Given the description of an element on the screen output the (x, y) to click on. 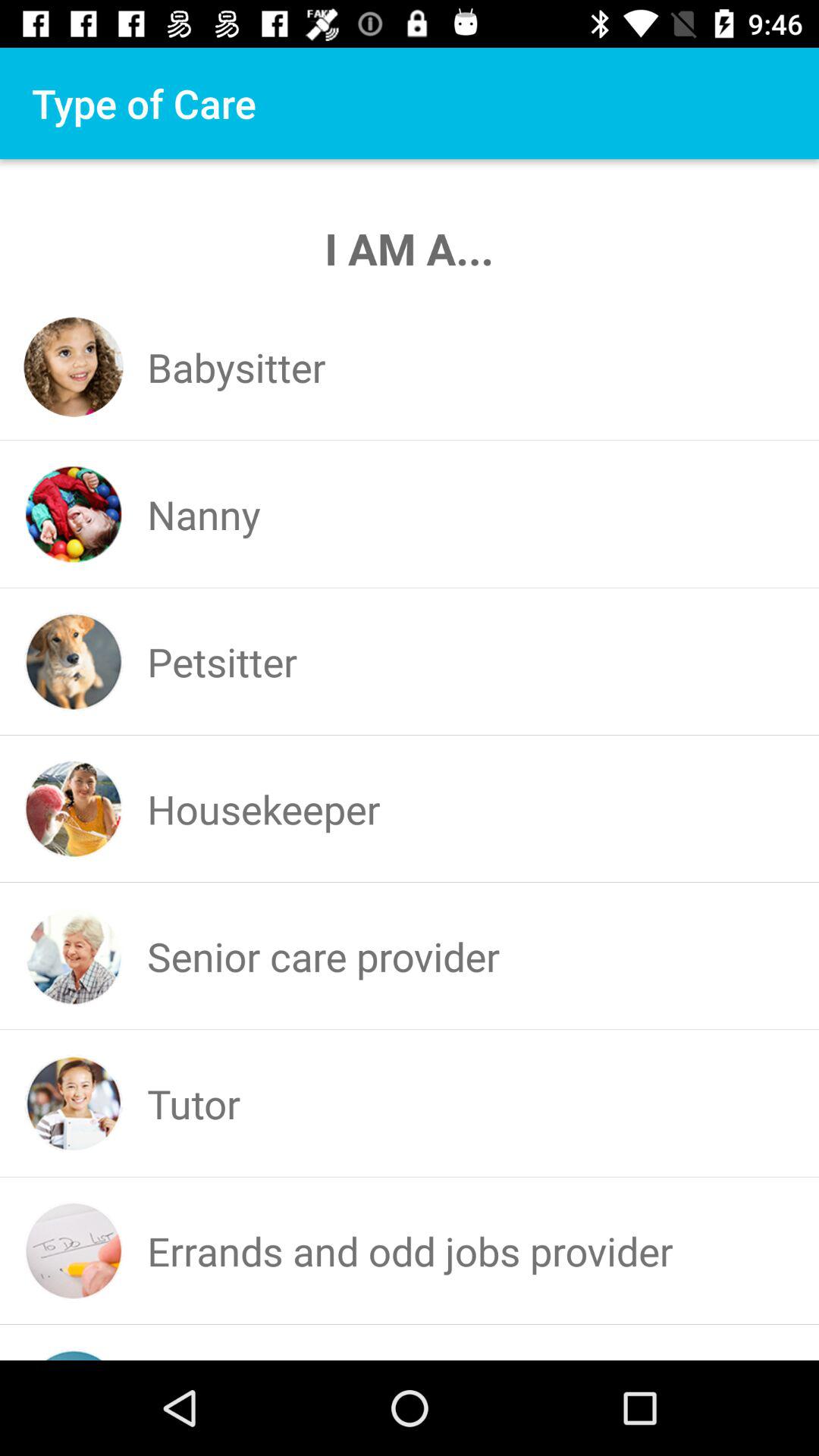
open the nanny item (203, 513)
